Given the description of an element on the screen output the (x, y) to click on. 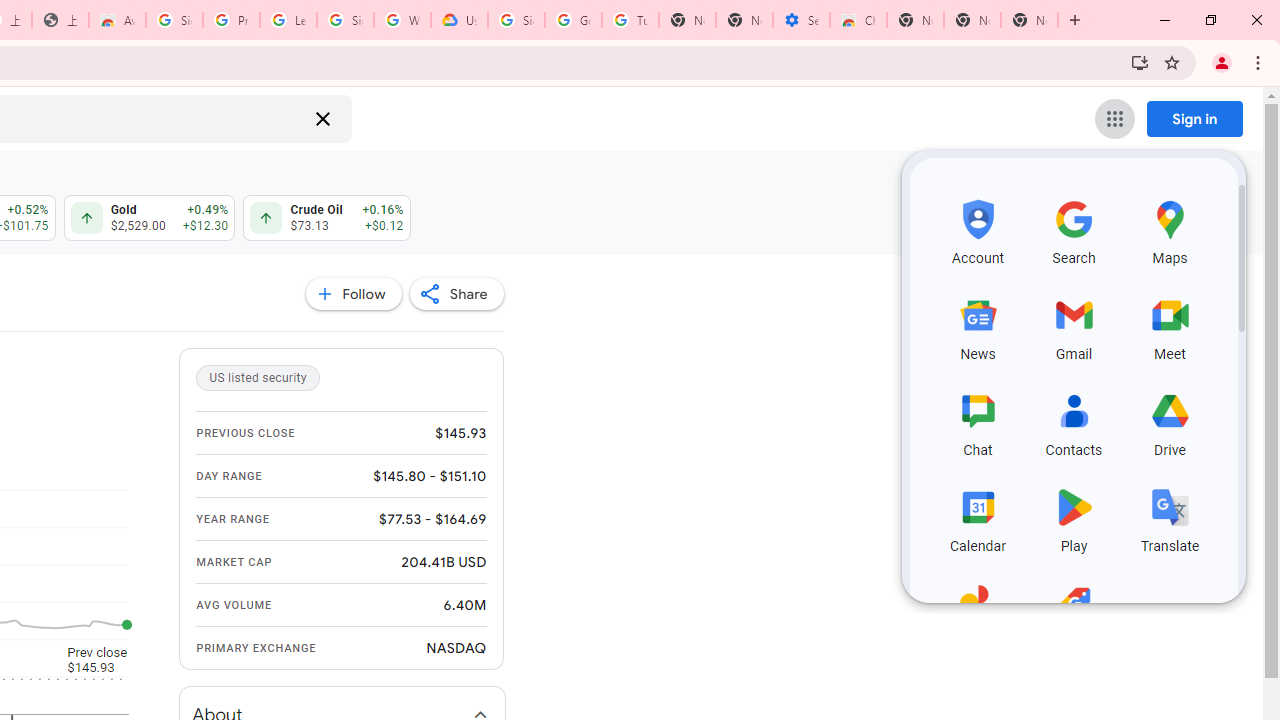
Gold $2,529.00 Up by 0.48% +$12.30 (148, 218)
Google Account Help (573, 20)
Turn cookies on or off - Computer - Google Account Help (630, 20)
Crude Oil $73.13 Up by 0.12% +$0.12 (326, 218)
Follow (353, 293)
Sign in - Google Accounts (174, 20)
Share (456, 293)
